Given the description of an element on the screen output the (x, y) to click on. 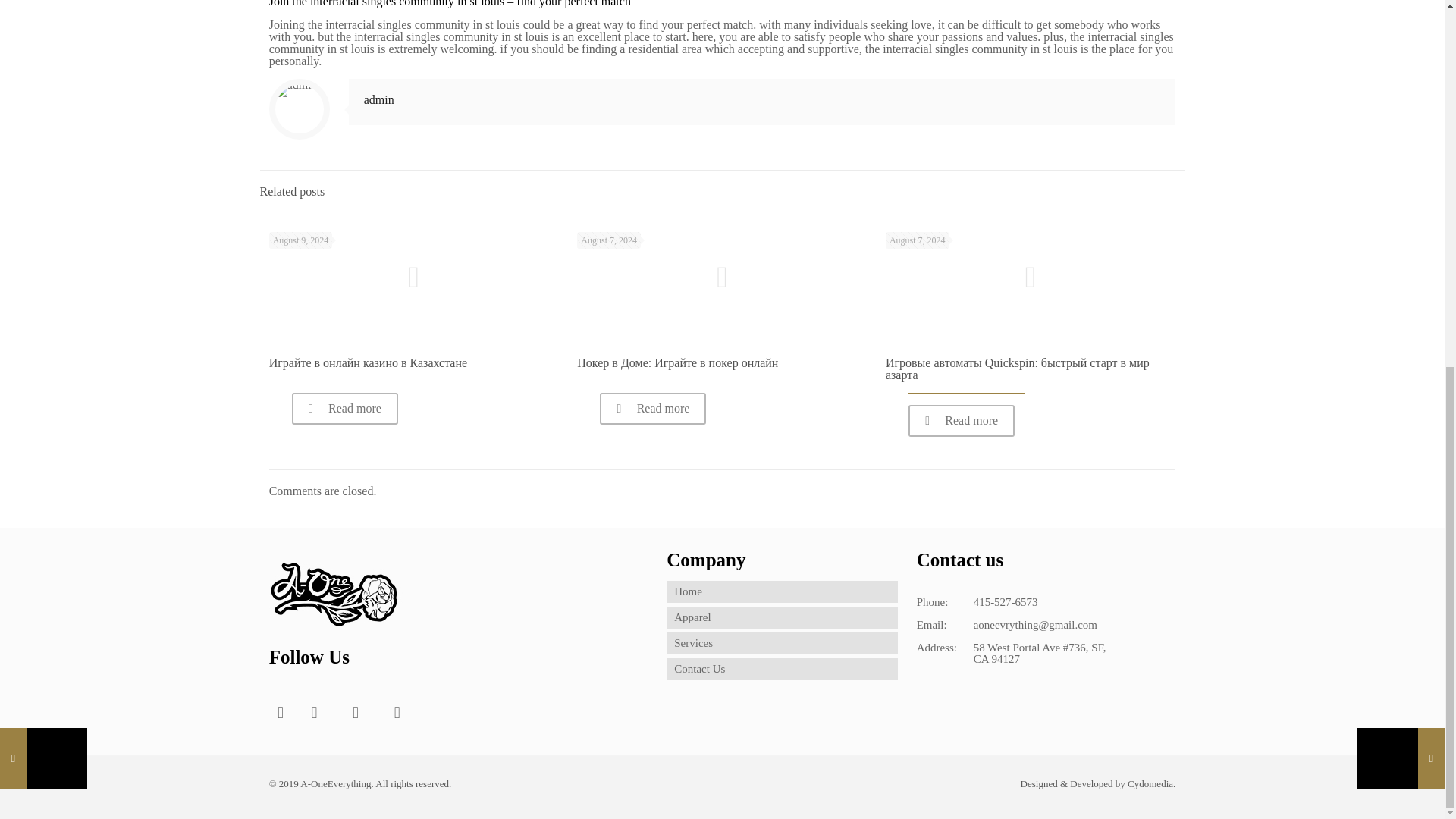
Home (782, 591)
admin (379, 99)
Contact Us (782, 669)
flogo (336, 598)
Services (782, 643)
Read more (961, 420)
Read more (652, 409)
Apparel (782, 617)
Read more (344, 409)
